Given the description of an element on the screen output the (x, y) to click on. 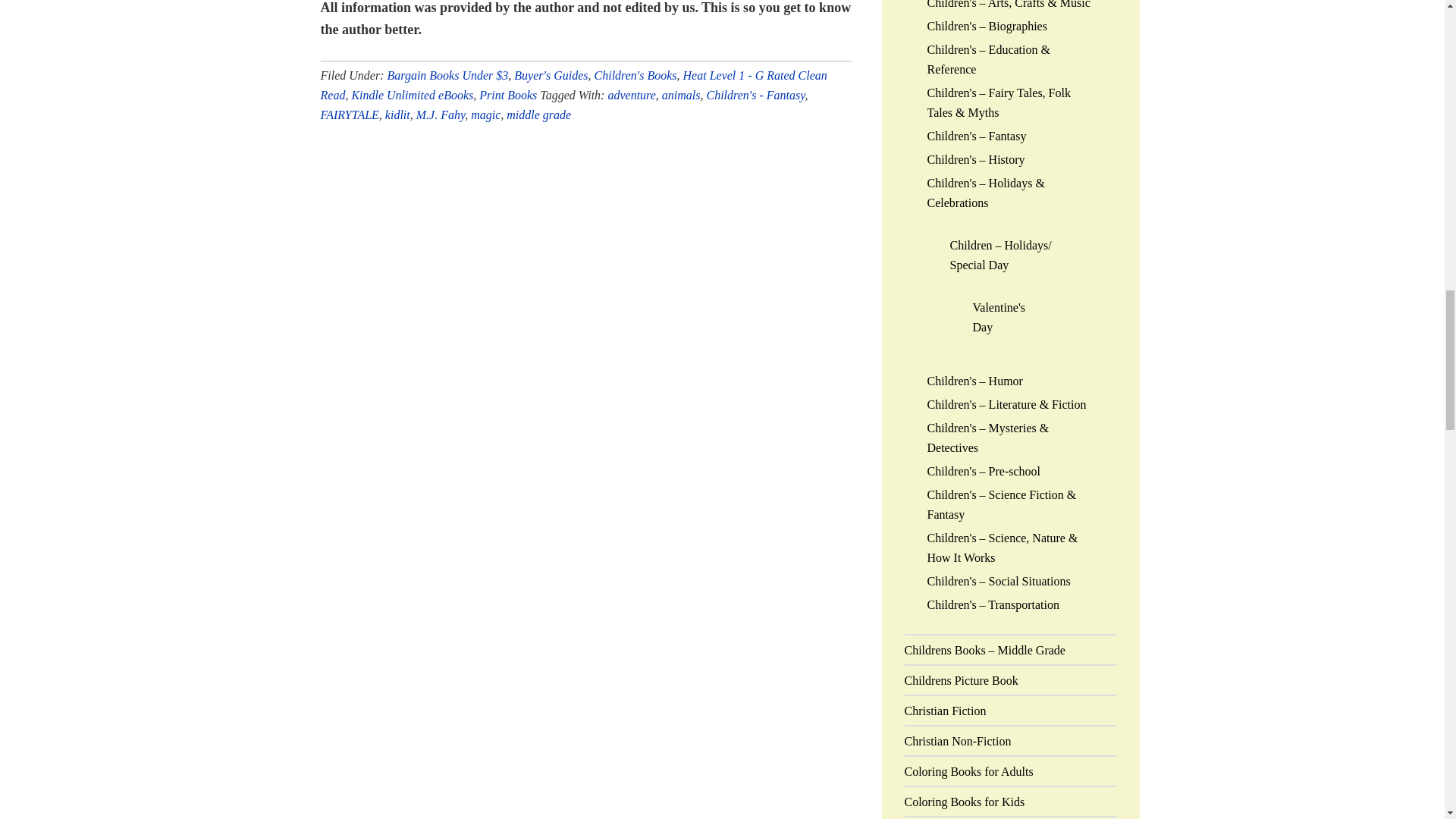
Children's - Fantasy (755, 93)
Buyer's Guides (550, 74)
Heat Level 1 - G Rated Clean Read (573, 83)
Children's Books (635, 74)
adventure (631, 93)
Kindle Unlimited eBooks (411, 93)
Print Books (508, 93)
FAIRYTALE (349, 113)
animals (681, 93)
